Given the description of an element on the screen output the (x, y) to click on. 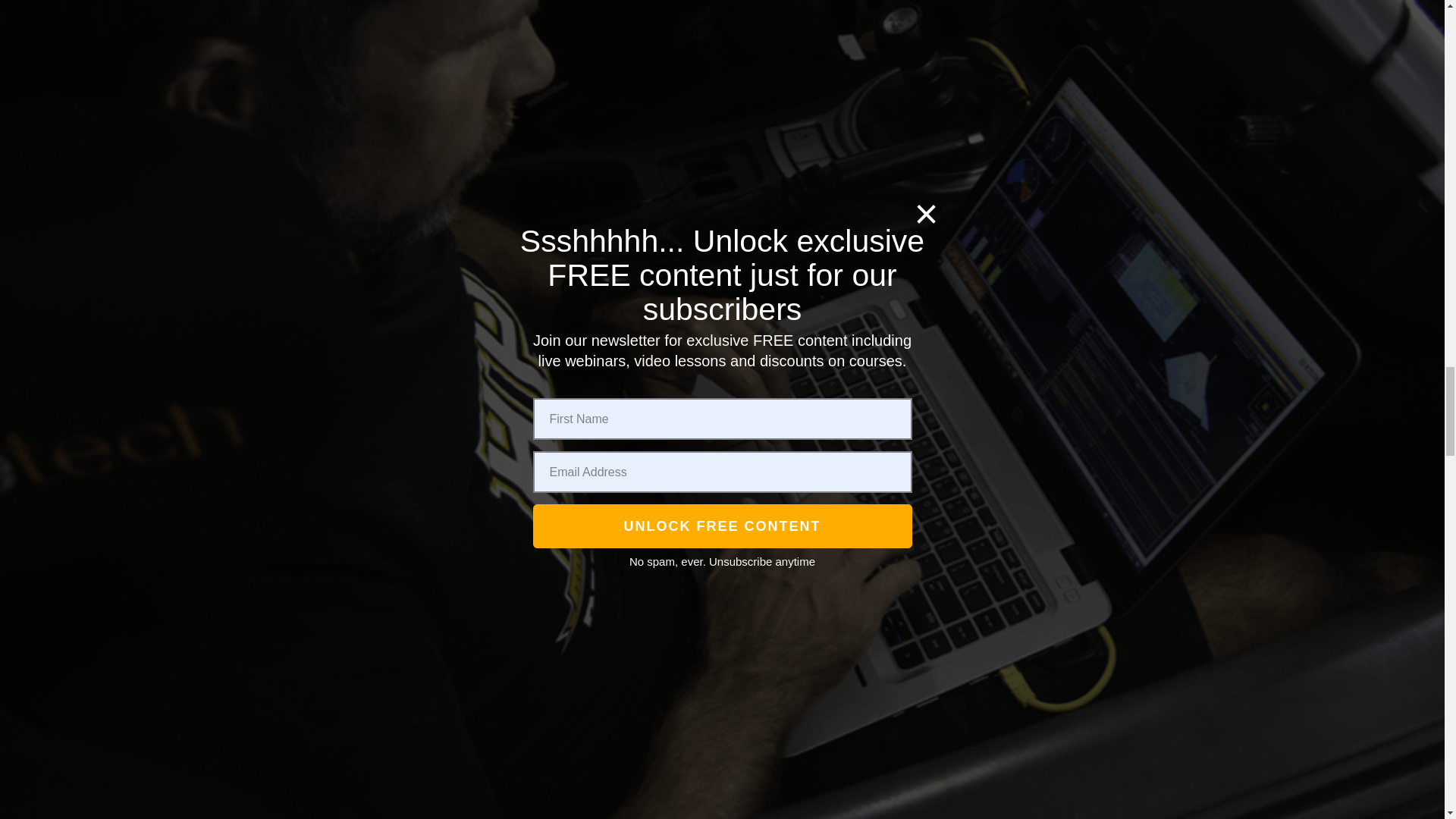
Click here to view Gord (355, 191)
Click here to view Gord (355, 123)
Click here to view Gord (355, 808)
Click here to view NSMK3 (354, 330)
Click here to view Gord (355, 764)
Click here to view NSMK3 (355, 397)
